Given the description of an element on the screen output the (x, y) to click on. 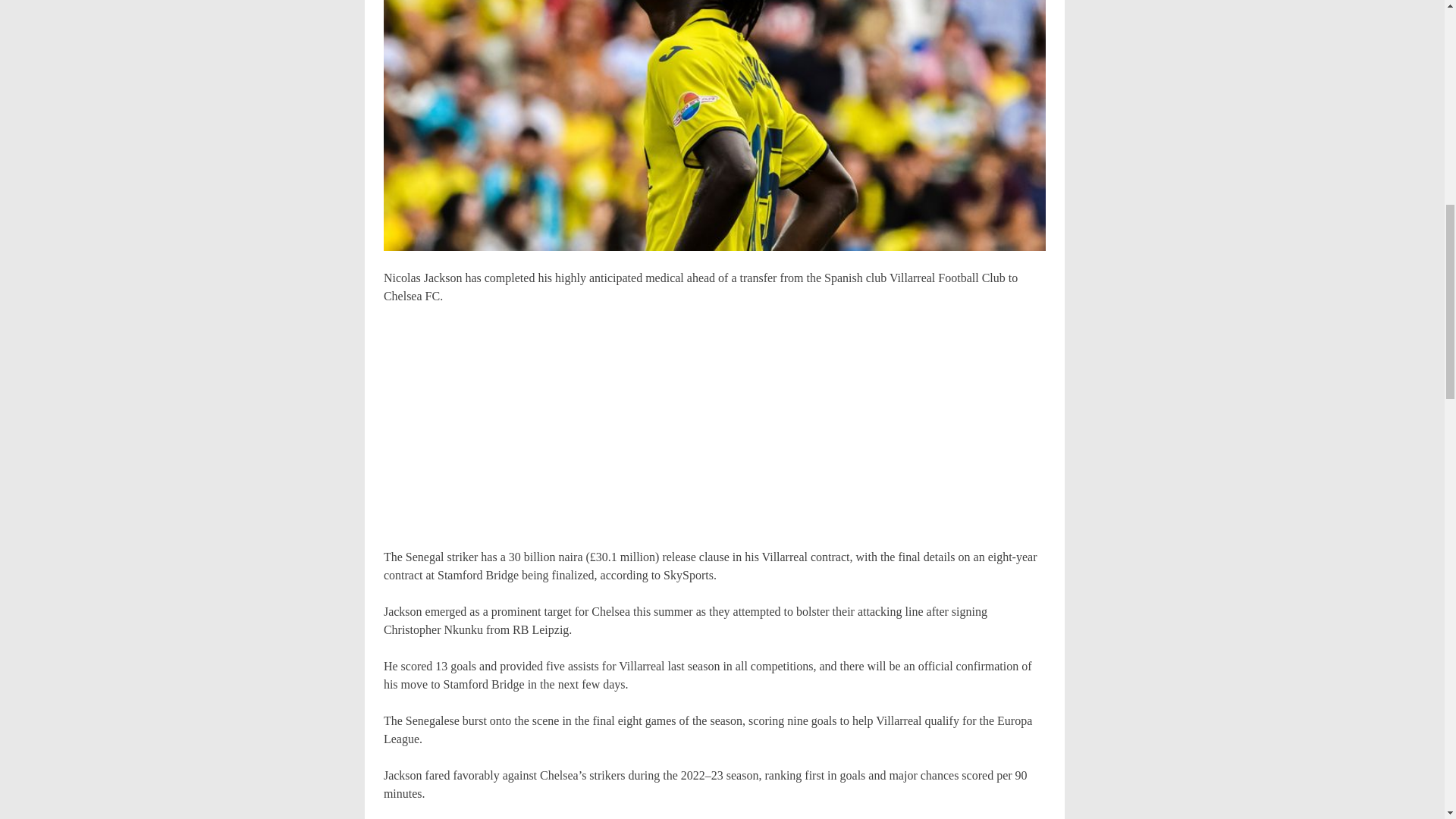
Advertisement (698, 429)
